Given the description of an element on the screen output the (x, y) to click on. 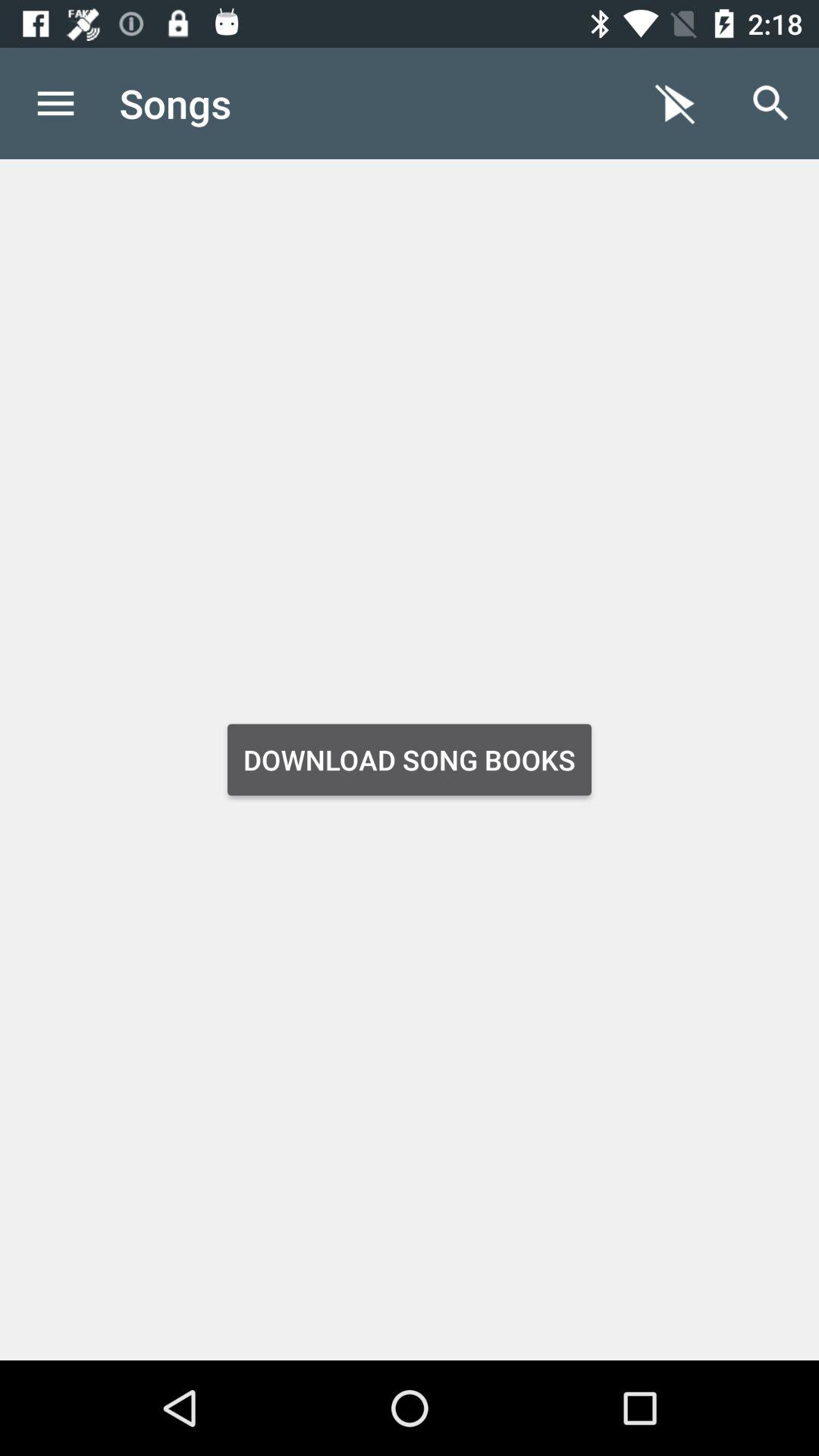
turn on the download song books (409, 759)
